Given the description of an element on the screen output the (x, y) to click on. 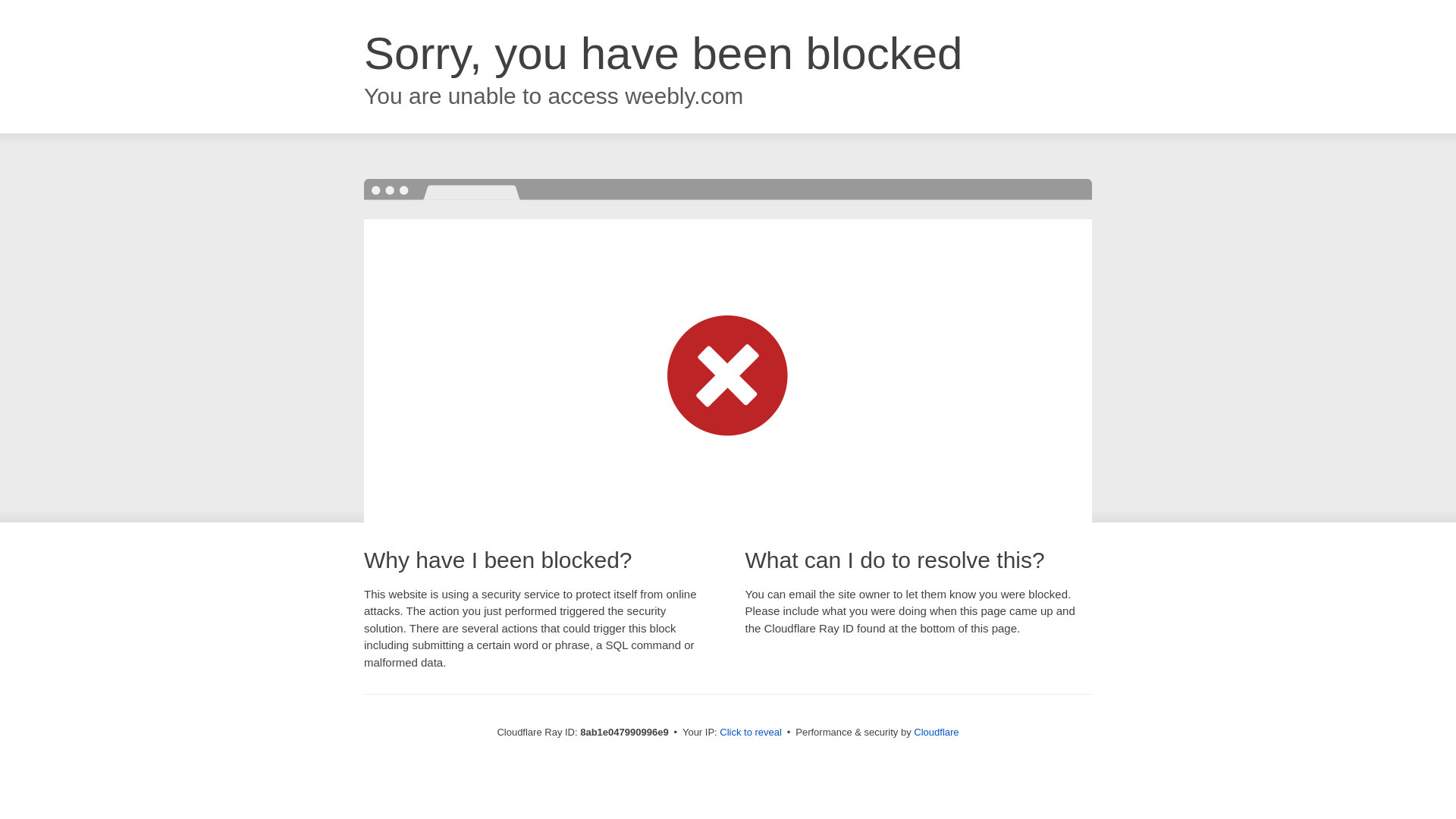
Cloudflare (936, 731)
Click to reveal (750, 732)
